Given the description of an element on the screen output the (x, y) to click on. 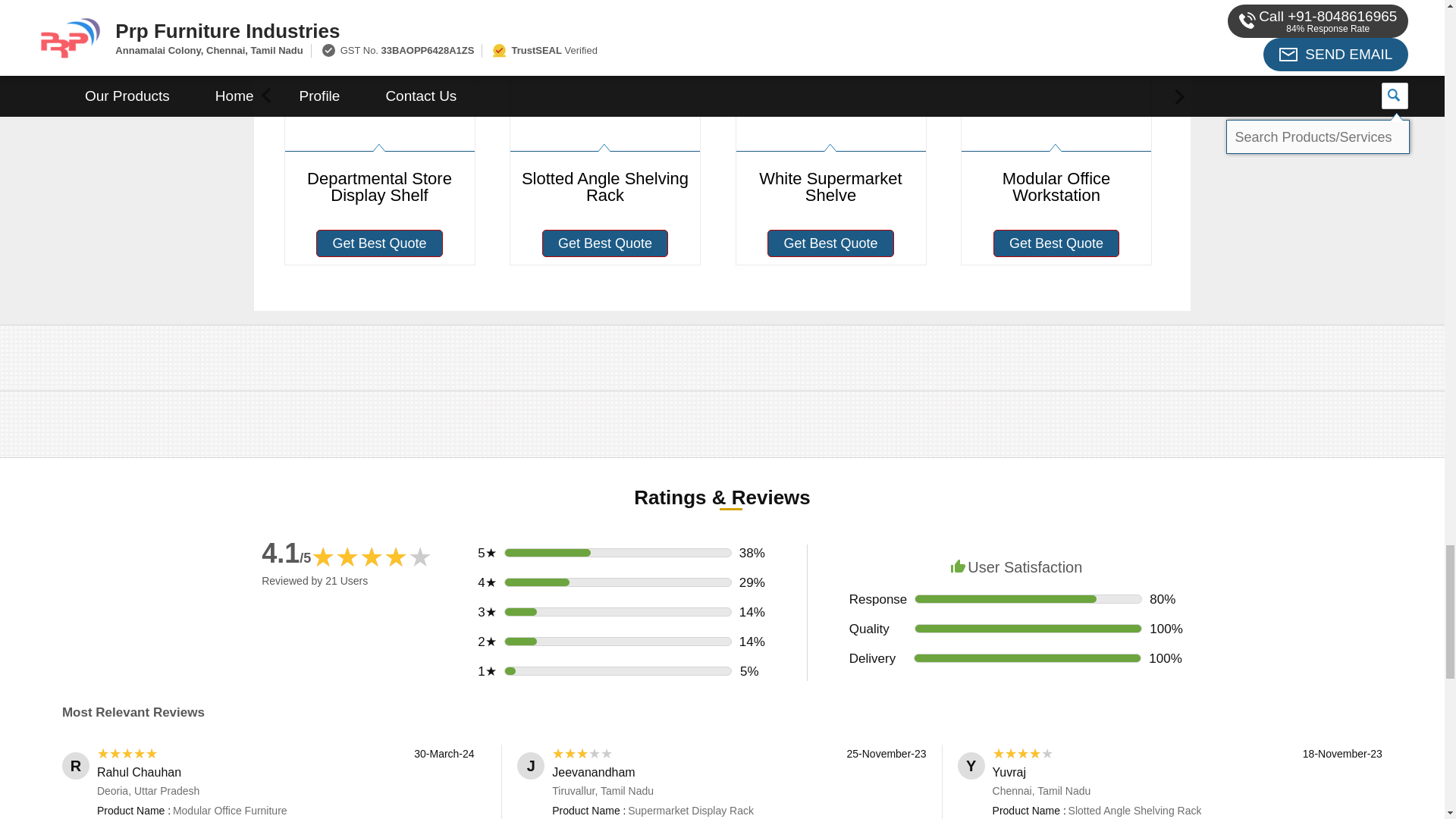
4.1 out of 5 Votes (286, 552)
